Given the description of an element on the screen output the (x, y) to click on. 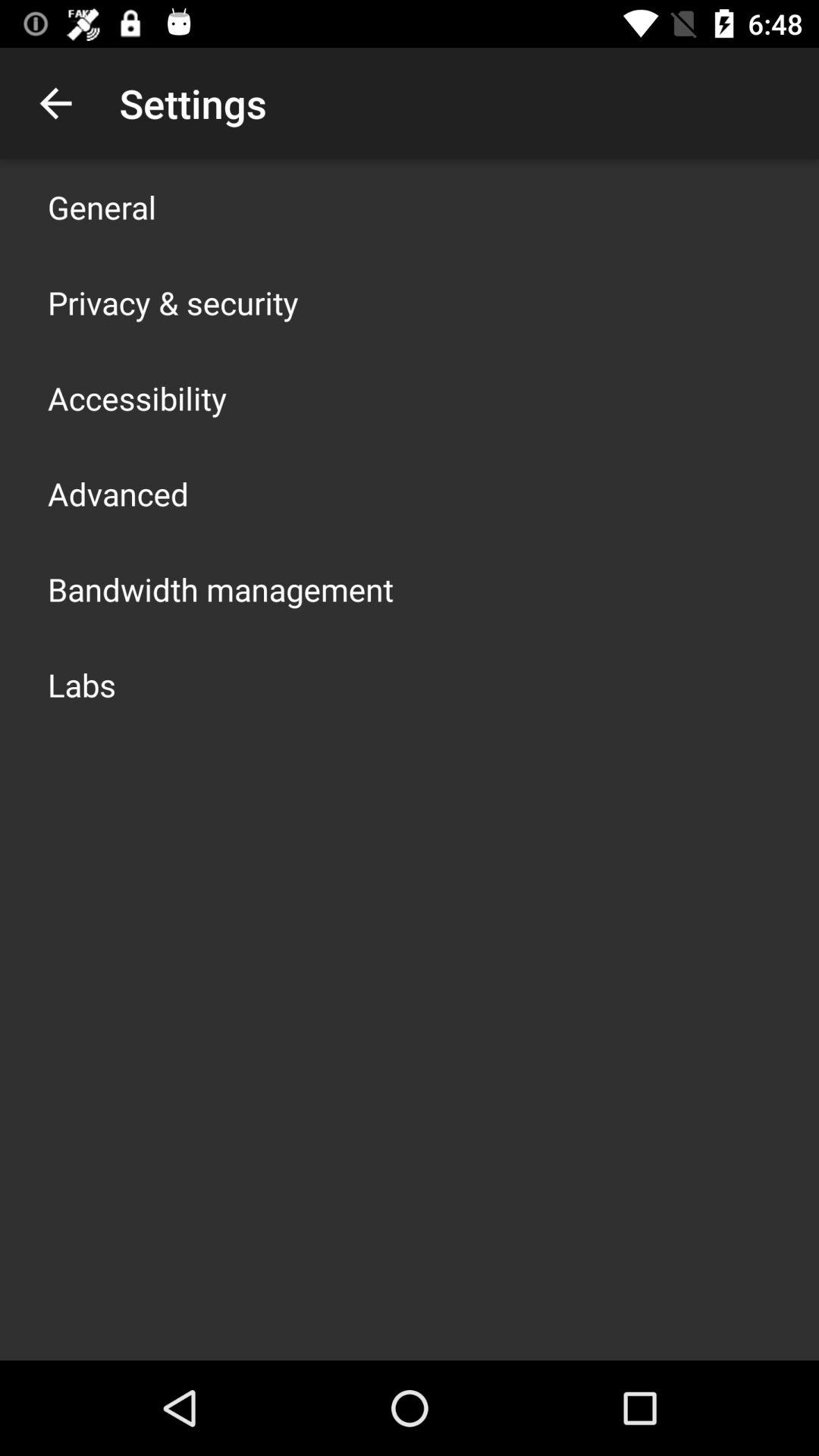
turn off item above accessibility app (172, 302)
